Given the description of an element on the screen output the (x, y) to click on. 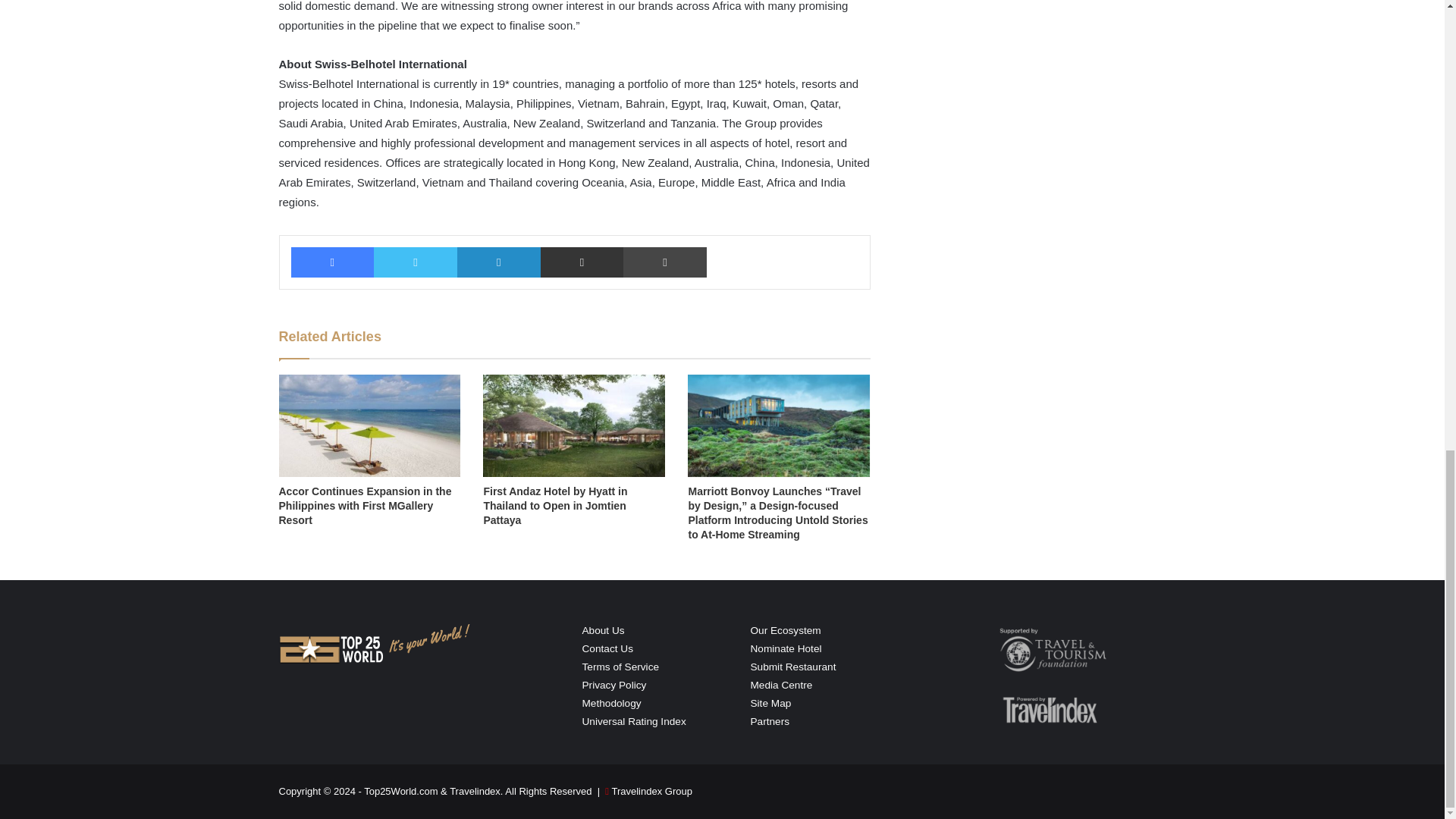
Share via Email (582, 262)
Print (664, 262)
LinkedIn (498, 262)
Facebook (332, 262)
Facebook (332, 262)
Twitter (415, 262)
Twitter (415, 262)
